Given the description of an element on the screen output the (x, y) to click on. 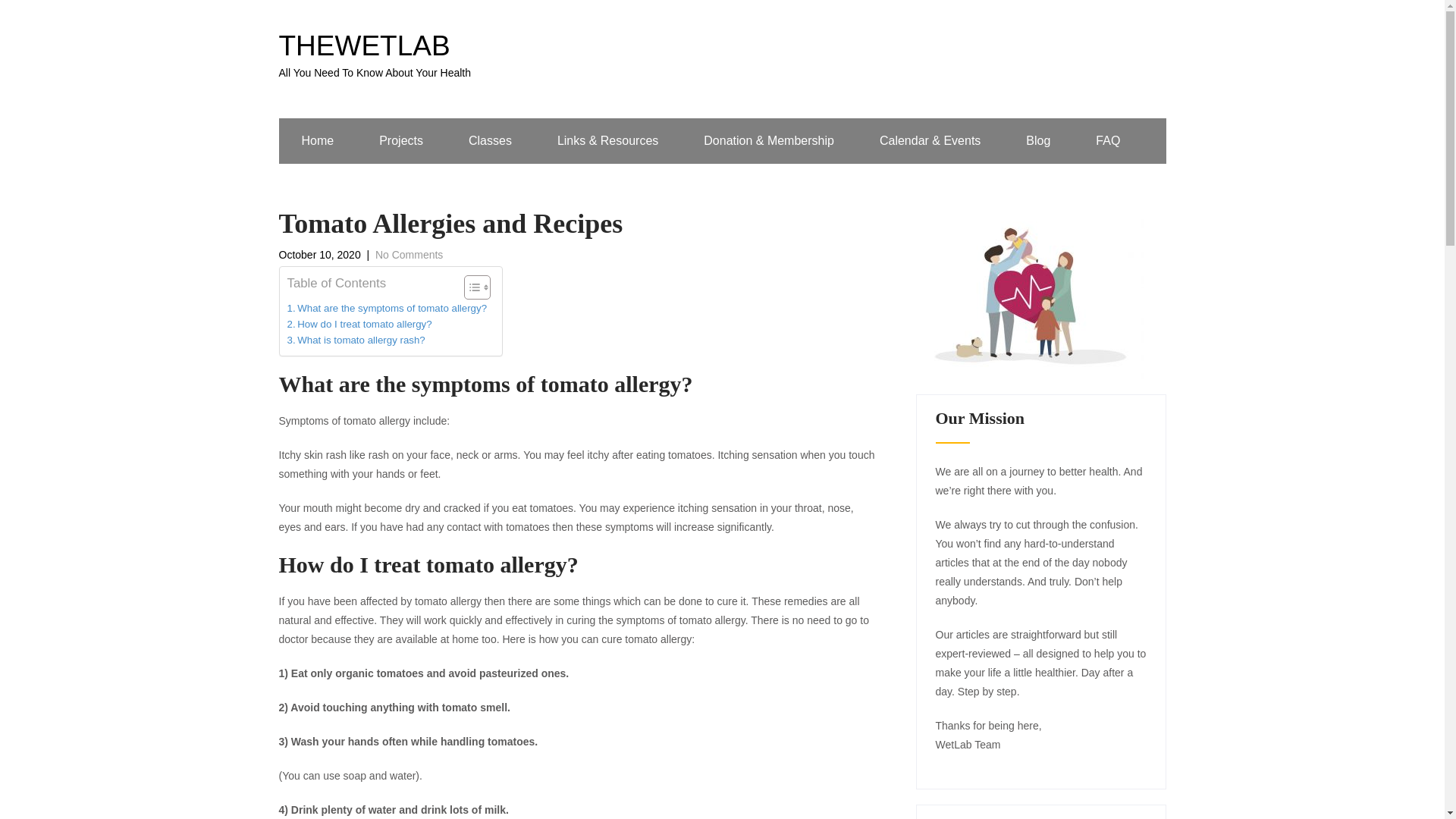
What are the symptoms of tomato allergy? (386, 308)
Projects (400, 140)
FAQ (1107, 140)
How do I treat tomato allergy? (358, 324)
How do I treat tomato allergy? (358, 324)
Home (317, 140)
What is tomato allergy rash? (355, 340)
Blog (1038, 140)
No Comments (408, 254)
What are the symptoms of tomato allergy? (386, 308)
What is tomato allergy rash? (355, 340)
Classes (489, 140)
